Given the description of an element on the screen output the (x, y) to click on. 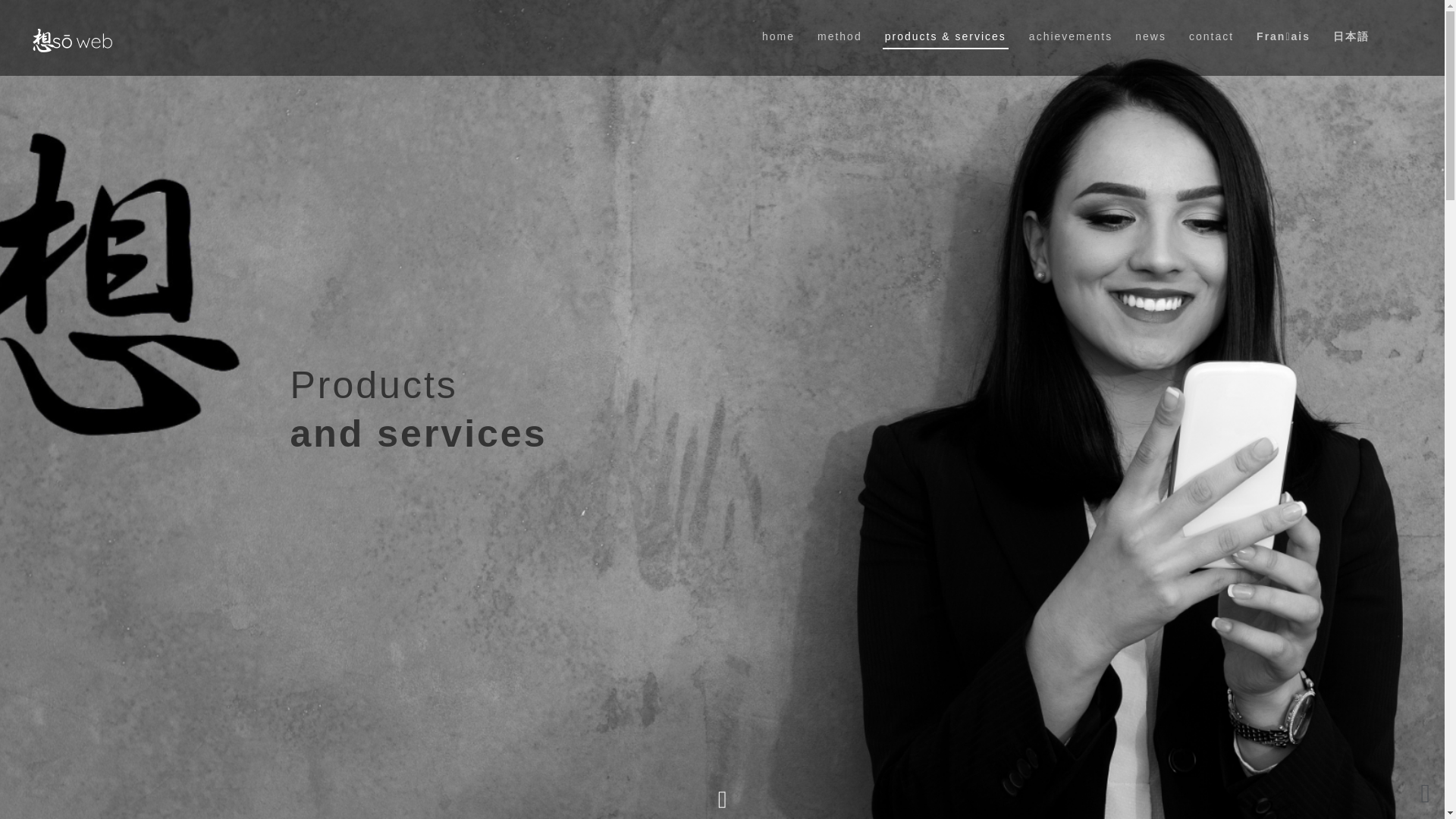
achievements (721, 409)
method (1070, 24)
contact (839, 24)
